Given the description of an element on the screen output the (x, y) to click on. 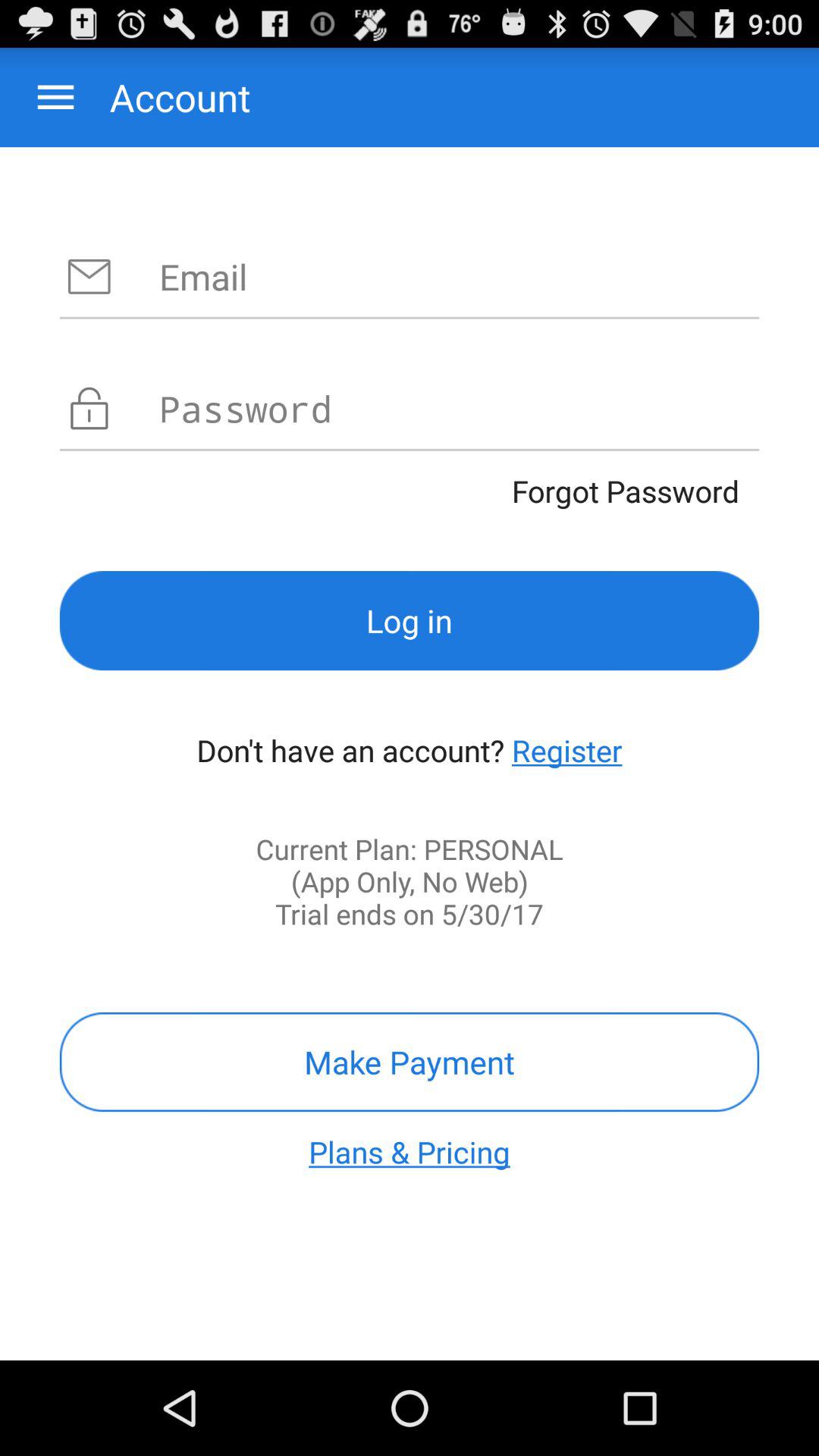
choose the icon above the don t have item (409, 620)
